Given the description of an element on the screen output the (x, y) to click on. 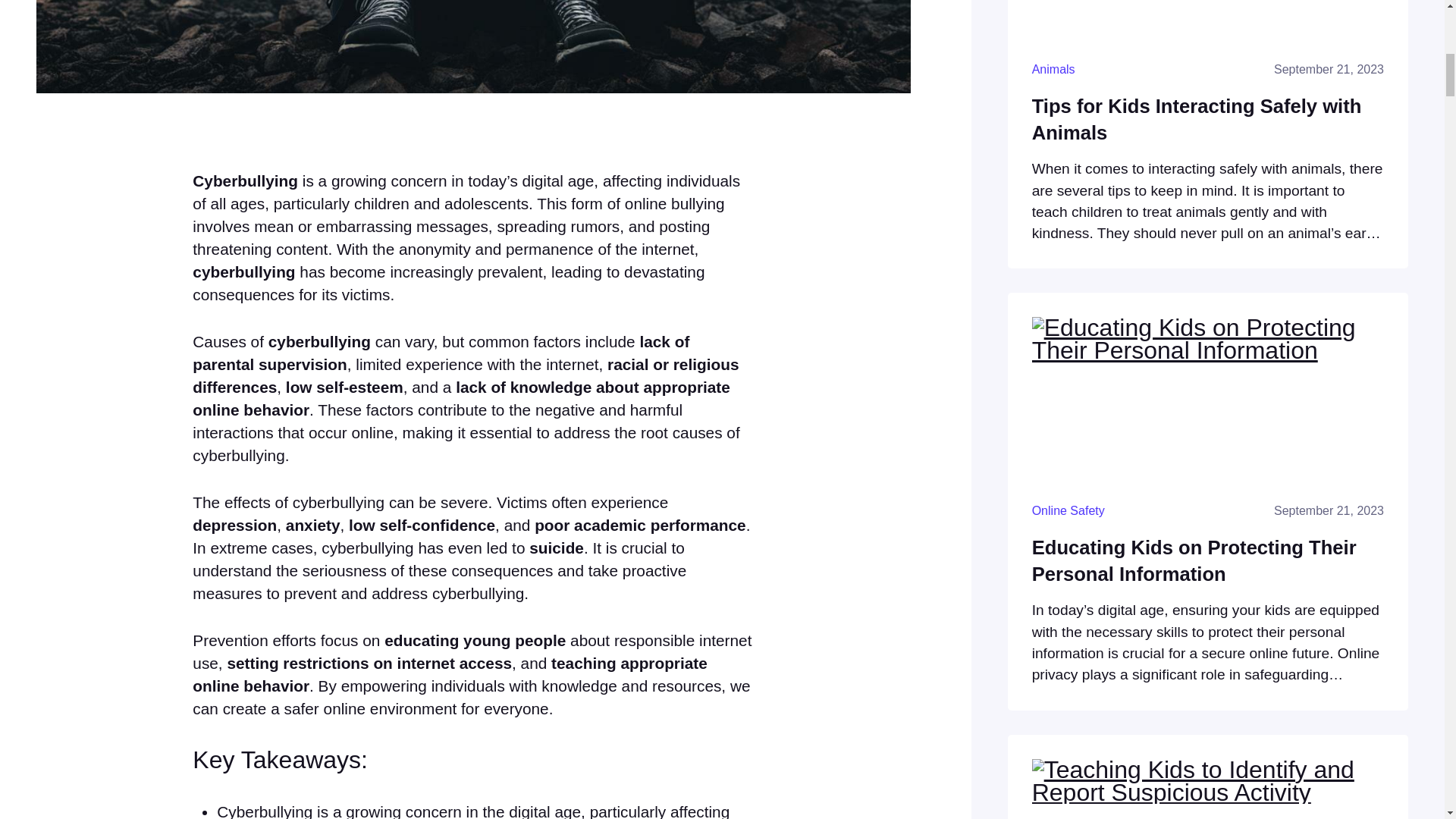
Educating Kids on Protecting Their Personal Information (1208, 561)
Online Safety (1068, 510)
Animals (1053, 69)
Tips for Kids Interacting Safely with Animals (1208, 119)
